Given the description of an element on the screen output the (x, y) to click on. 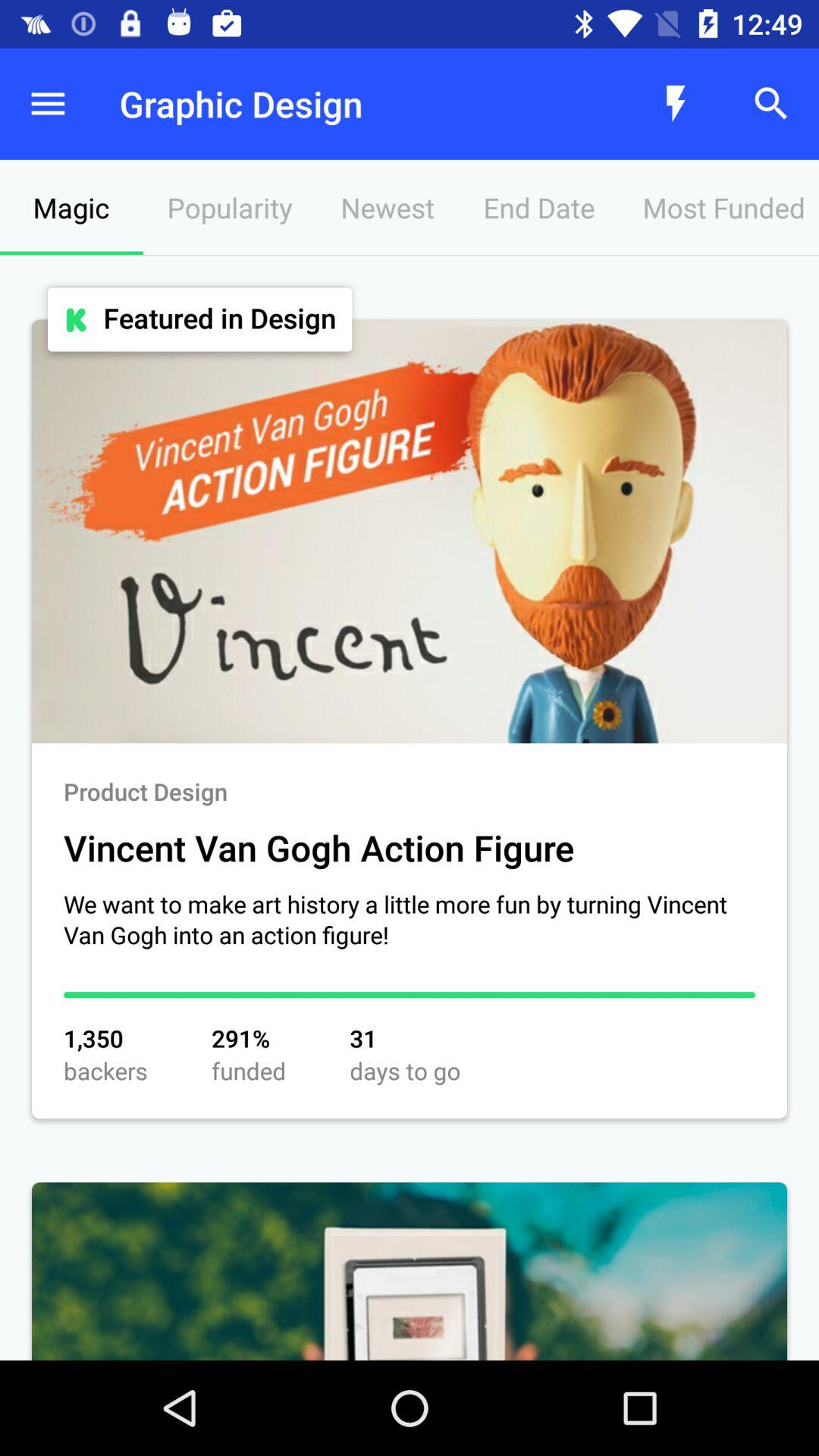
press item above most funded icon (675, 103)
